Given the description of an element on the screen output the (x, y) to click on. 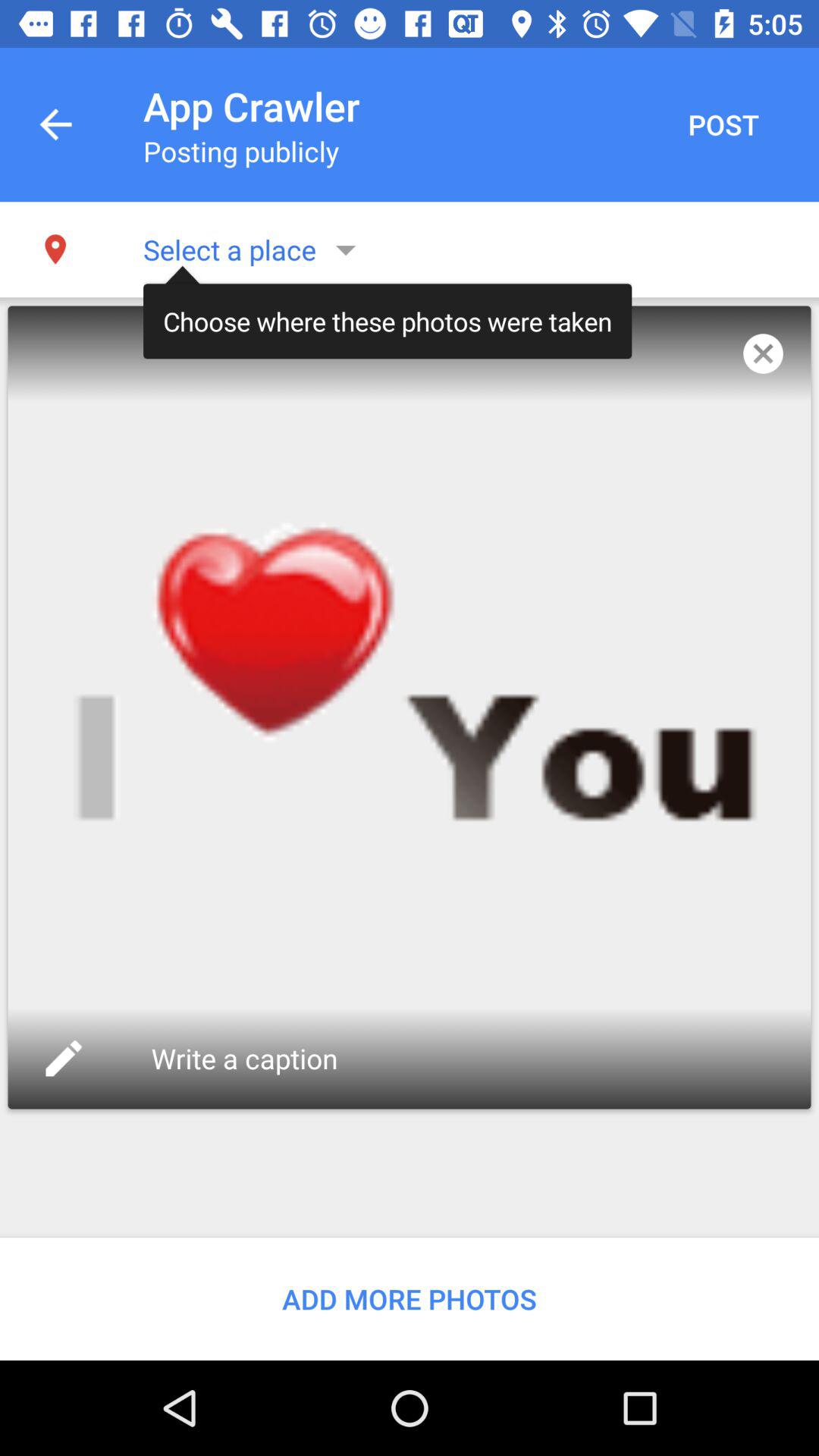
turn off item next to the app crawler (723, 124)
